Given the description of an element on the screen output the (x, y) to click on. 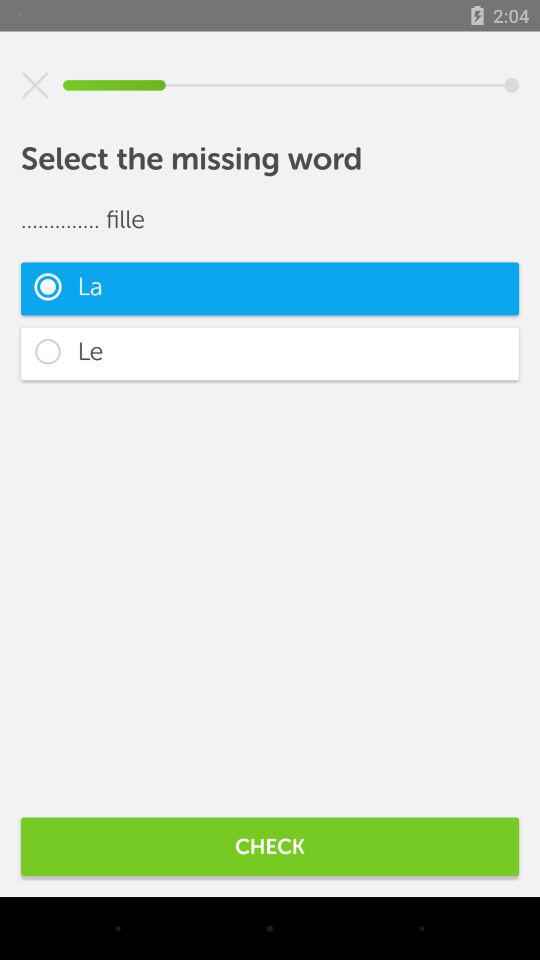
flip to the check item (270, 846)
